Given the description of an element on the screen output the (x, y) to click on. 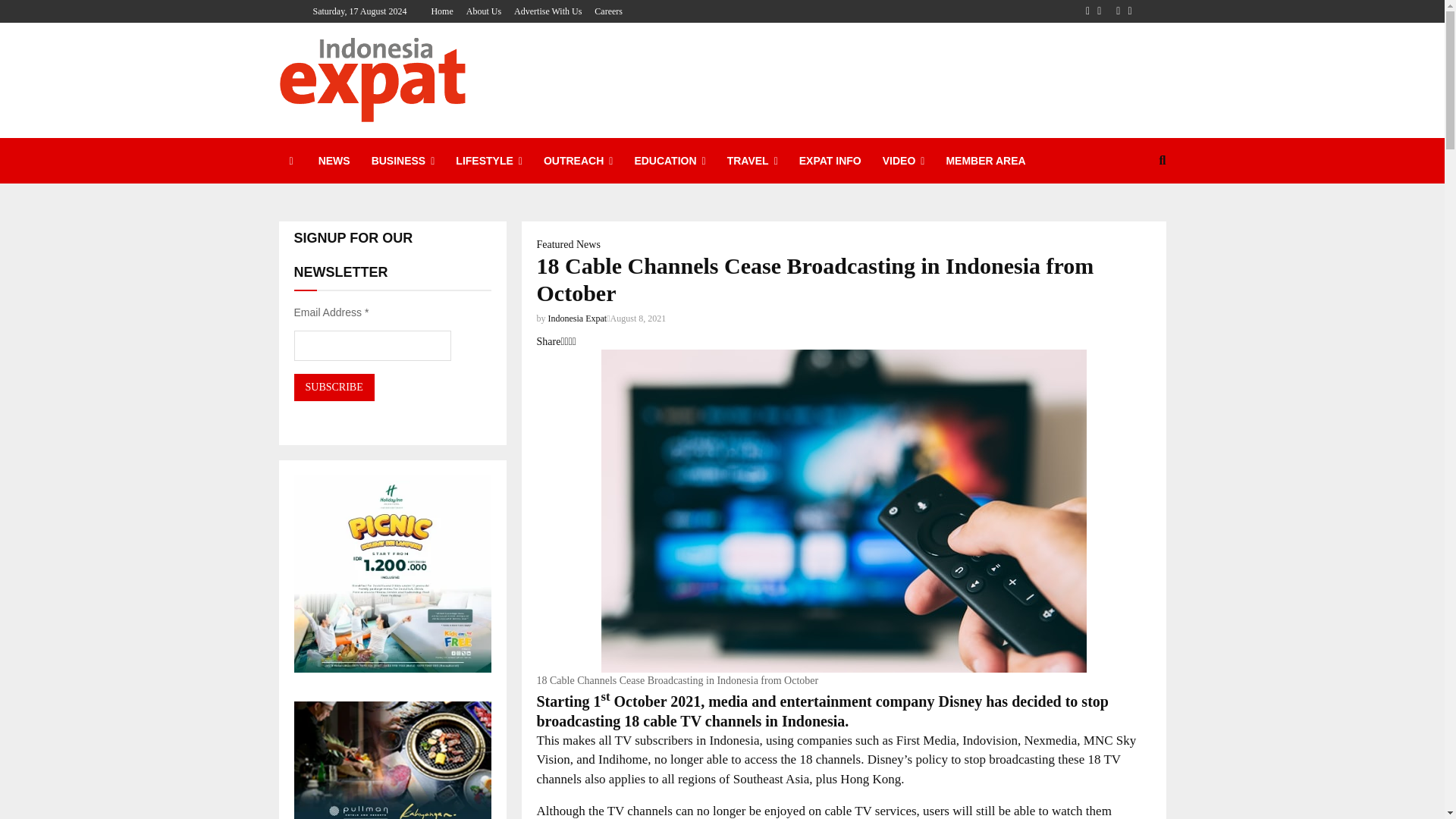
OUTREACH (577, 160)
Subscribe (334, 387)
BUSINESS (403, 160)
Home (441, 11)
Advertise With Us (546, 11)
EXPAT INFO (830, 160)
NEWS (334, 160)
VIDEO (904, 160)
LIFESTYLE (488, 160)
TRAVEL (752, 160)
